Given the description of an element on the screen output the (x, y) to click on. 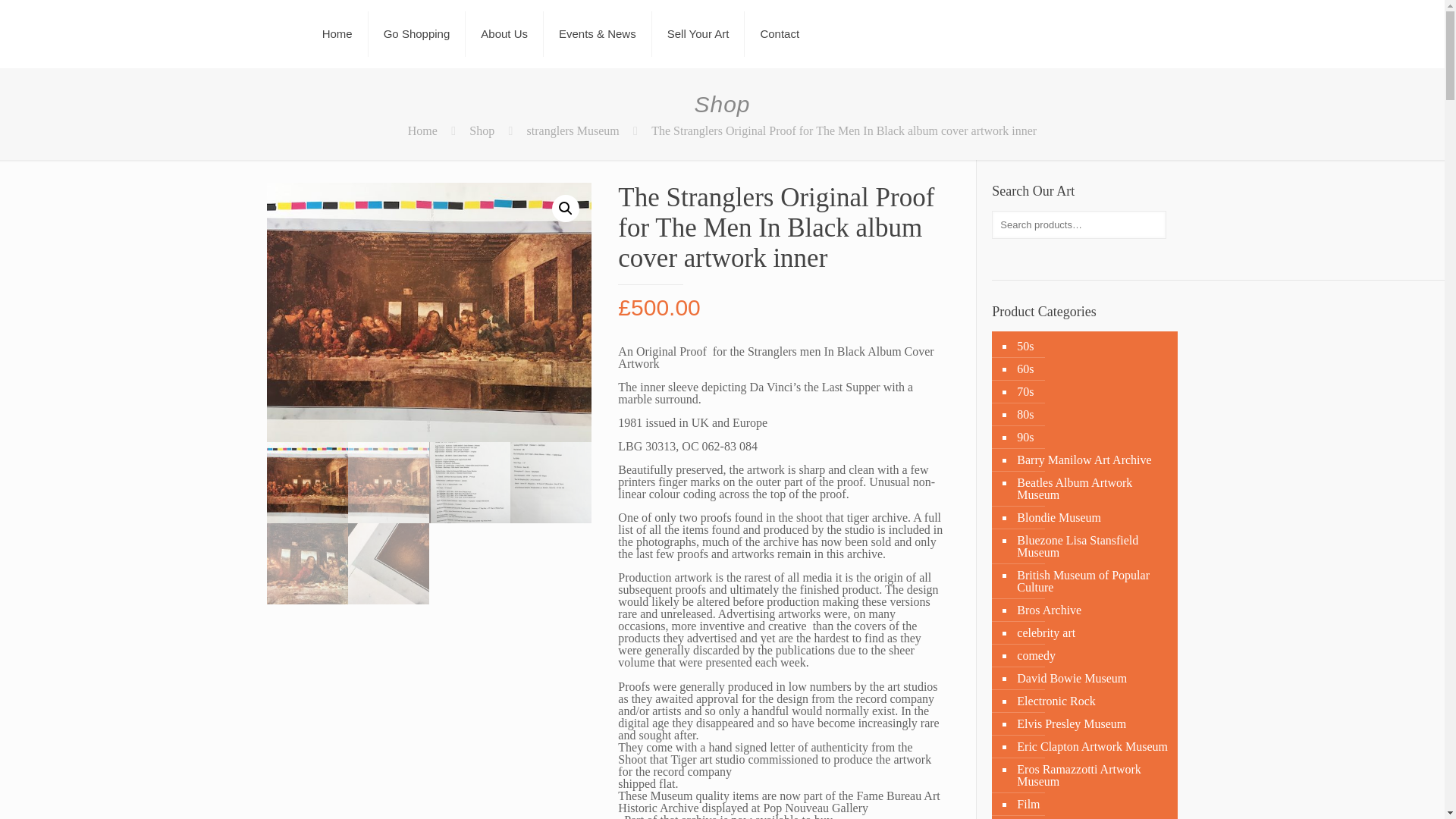
Go Shopping (416, 33)
Home (337, 33)
Sell Your Art (698, 33)
About Us (504, 33)
Shop (481, 130)
stranglers Museum (573, 130)
Contact (778, 33)
Home (422, 130)
Stranglers Men in Black Inner Proof album cover artwork (432, 312)
